Given the description of an element on the screen output the (x, y) to click on. 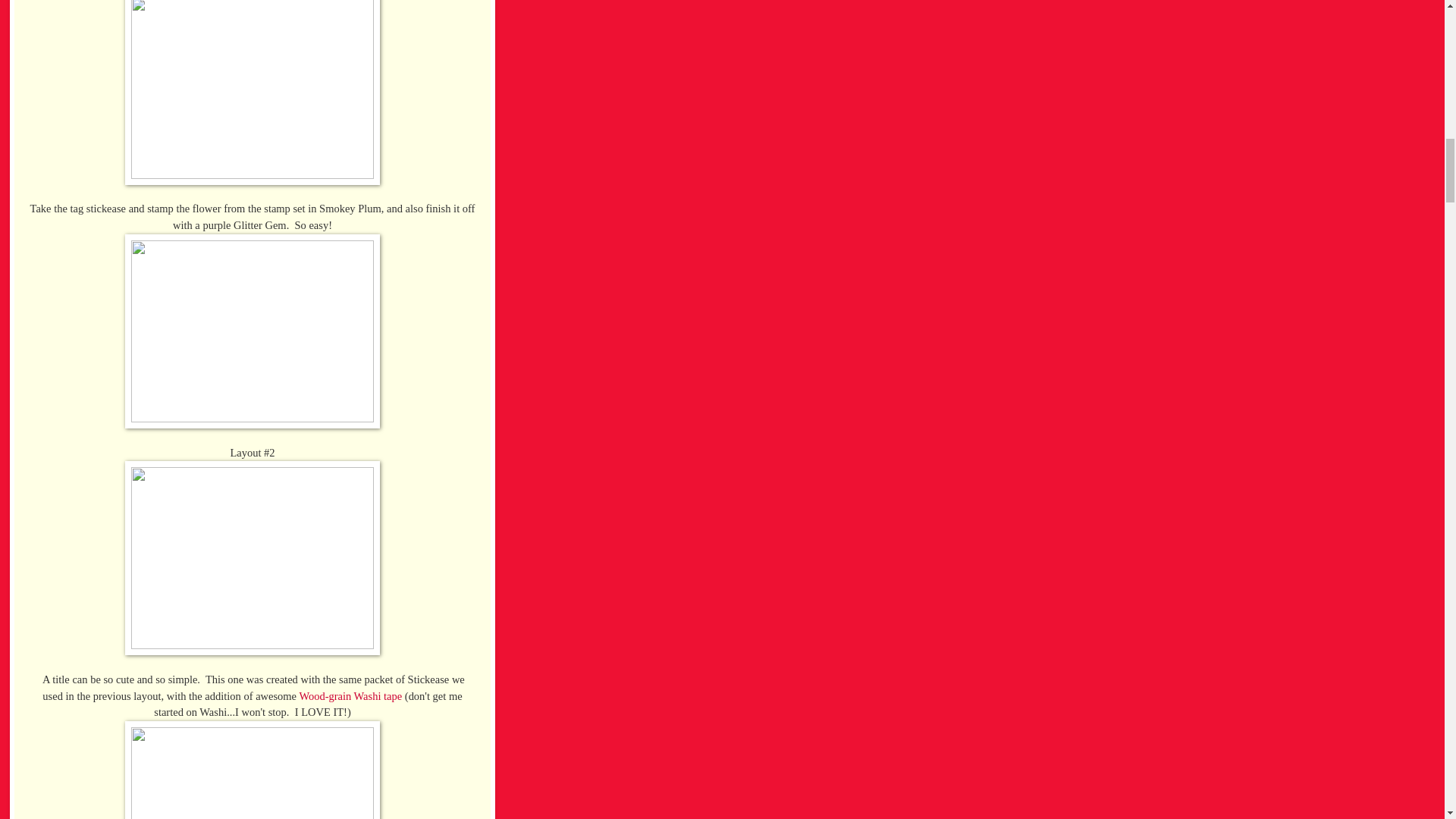
Wood-grain Washi tape (349, 695)
